Given the description of an element on the screen output the (x, y) to click on. 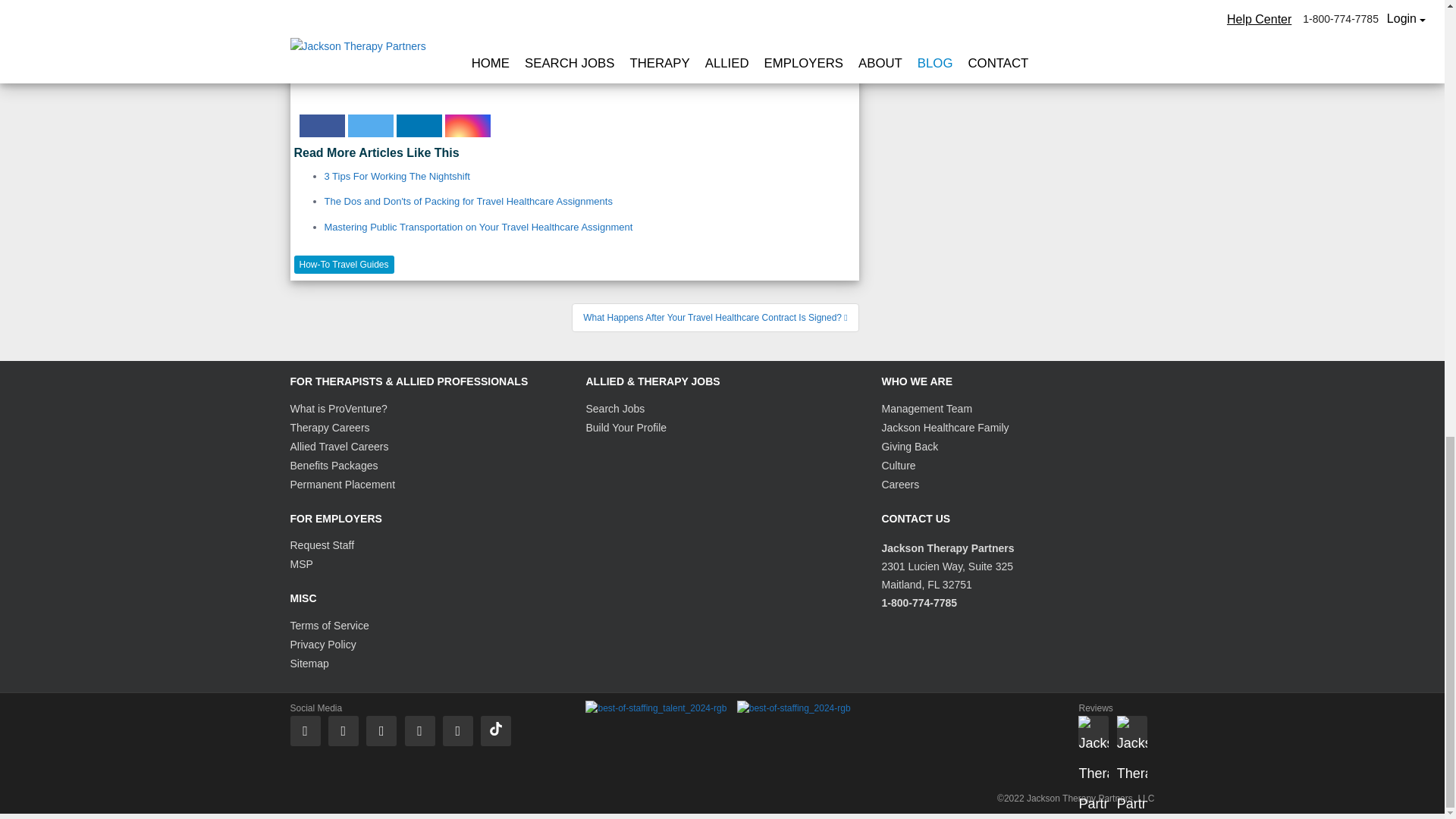
Twitter (370, 125)
Facebook (320, 125)
Linkedin (418, 125)
